Given the description of an element on the screen output the (x, y) to click on. 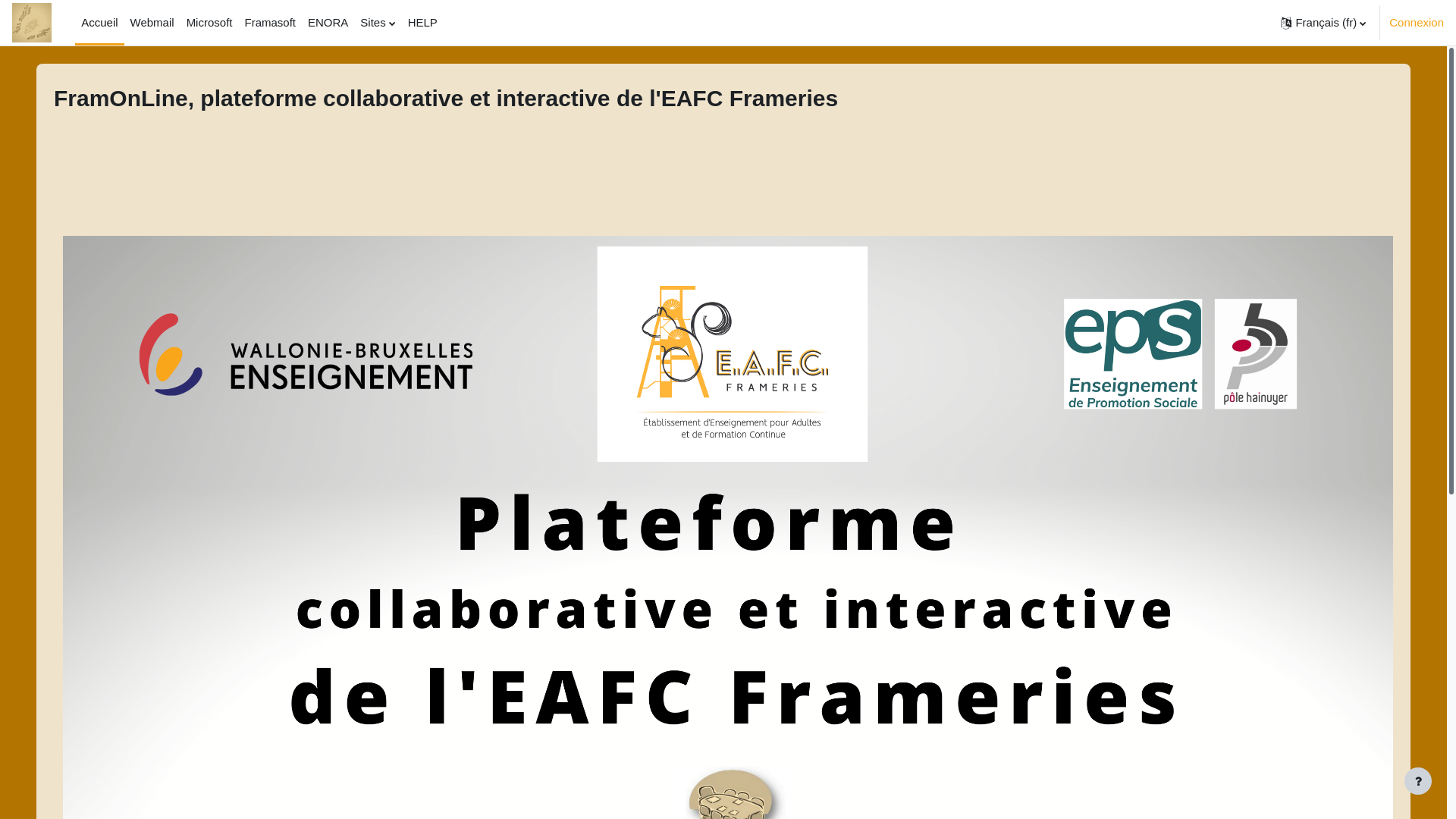
Connexion Element type: text (1416, 22)
ENORA Element type: text (327, 22)
HELP Element type: text (422, 22)
Webmail Element type: text (152, 22)
Accueil Element type: text (99, 22)
Sites Element type: text (377, 22)
Microsoft Element type: text (209, 22)
Framasoft Element type: text (269, 22)
